Given the description of an element on the screen output the (x, y) to click on. 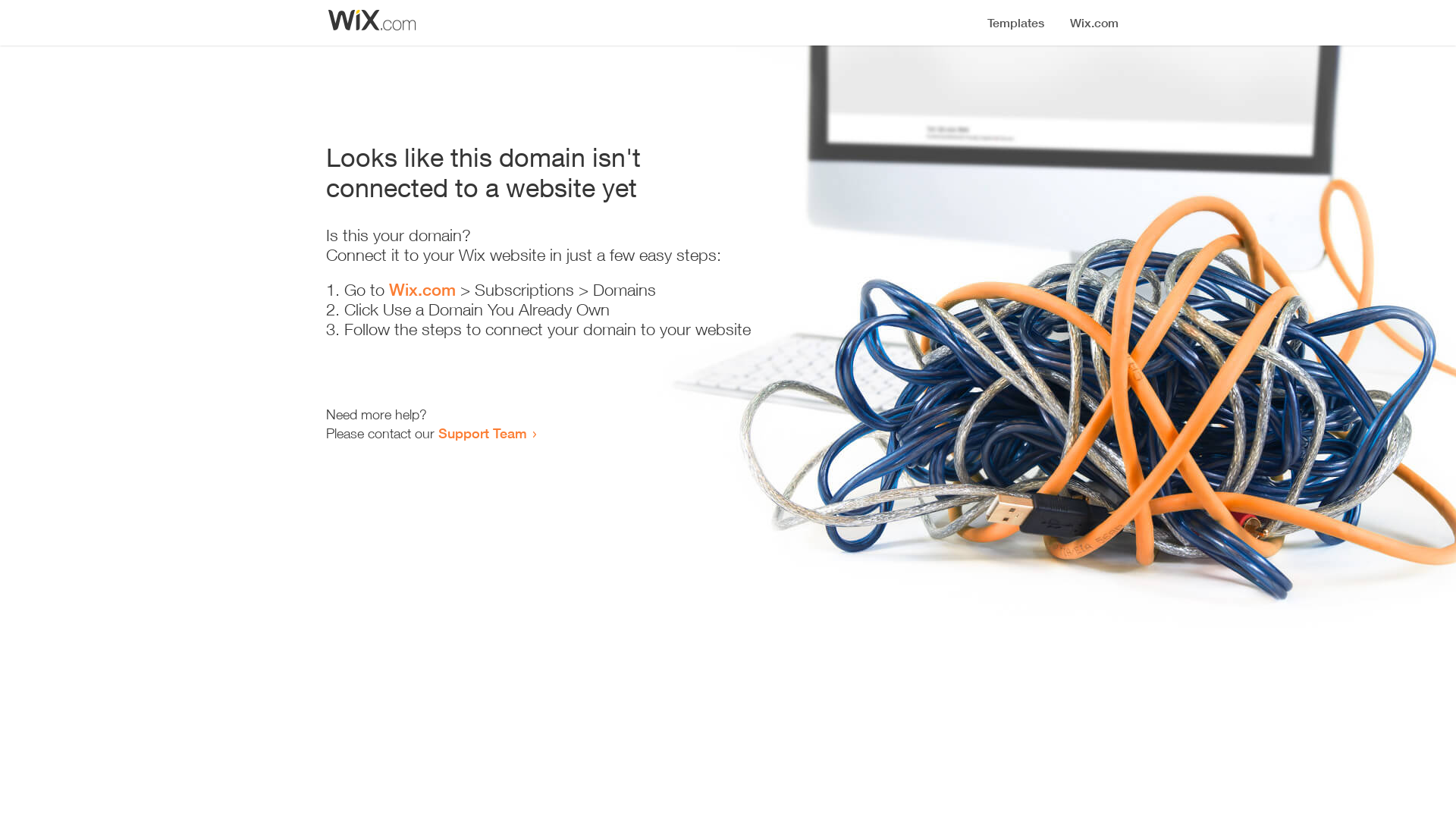
Wix.com Element type: text (422, 289)
Support Team Element type: text (482, 432)
